Given the description of an element on the screen output the (x, y) to click on. 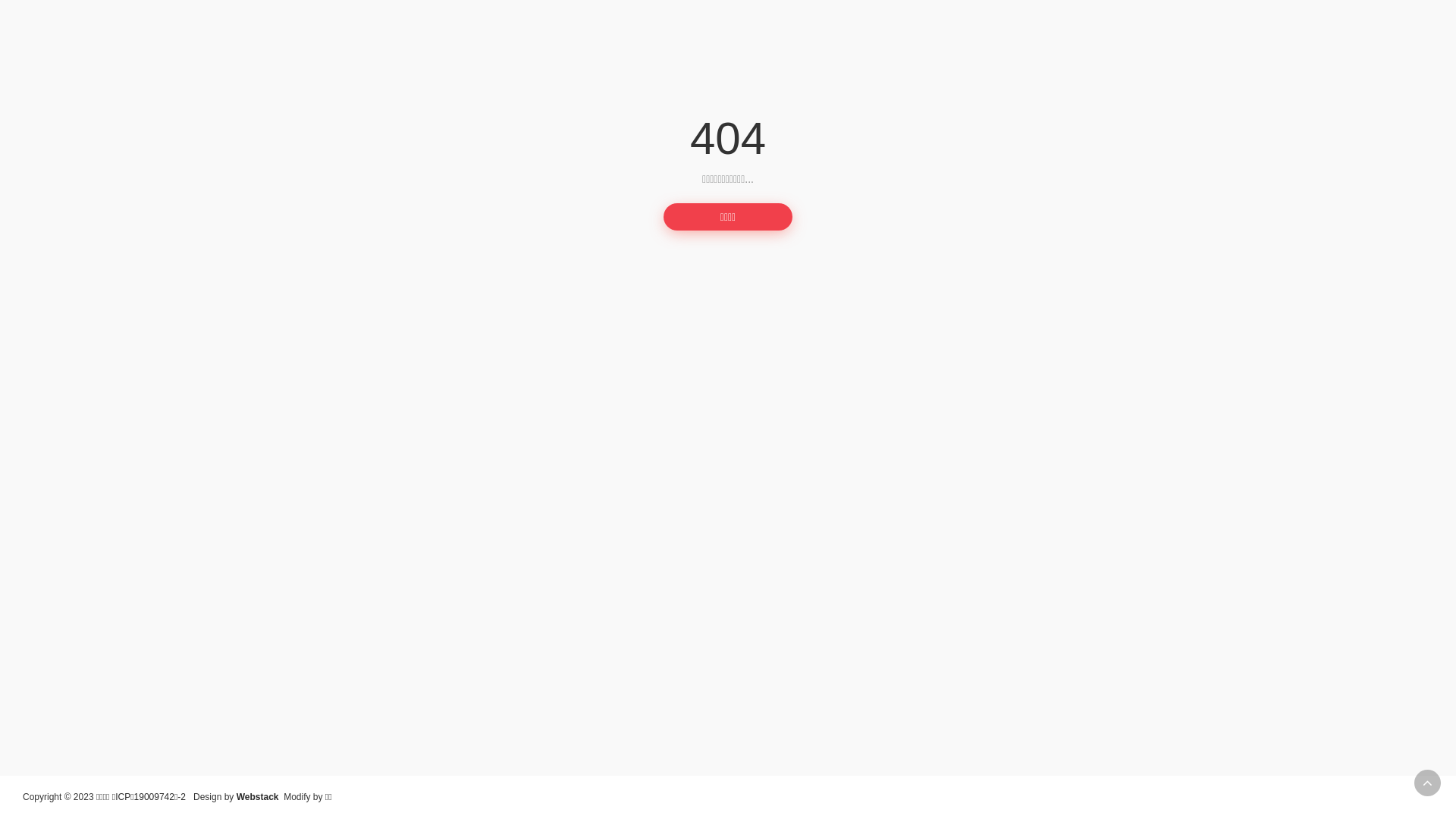
Webstack Element type: text (257, 796)
